Given the description of an element on the screen output the (x, y) to click on. 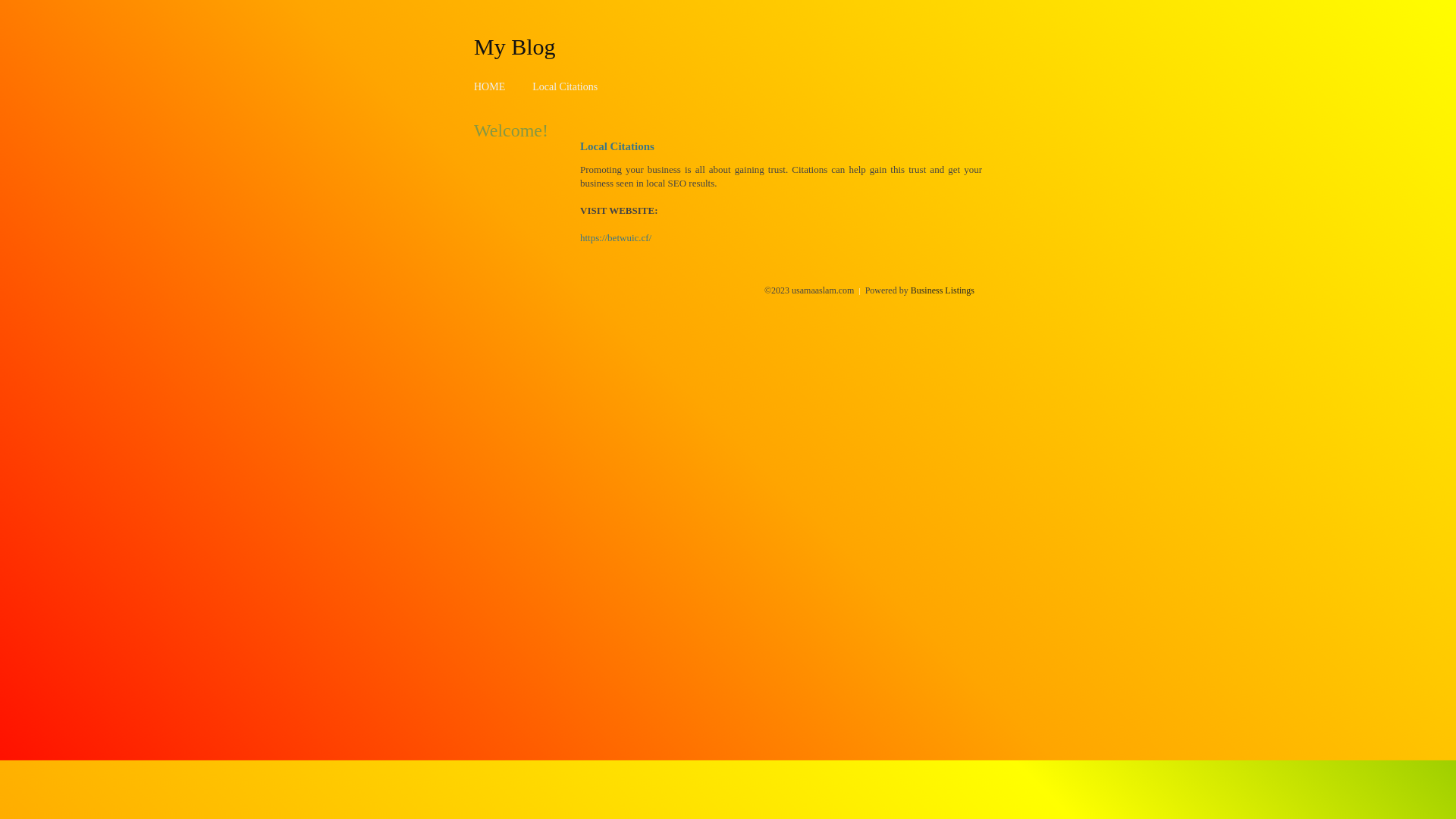
Business Listings Element type: text (942, 290)
HOME Element type: text (489, 86)
Local Citations Element type: text (564, 86)
https://betwuic.cf/ Element type: text (615, 237)
My Blog Element type: text (514, 46)
